Given the description of an element on the screen output the (x, y) to click on. 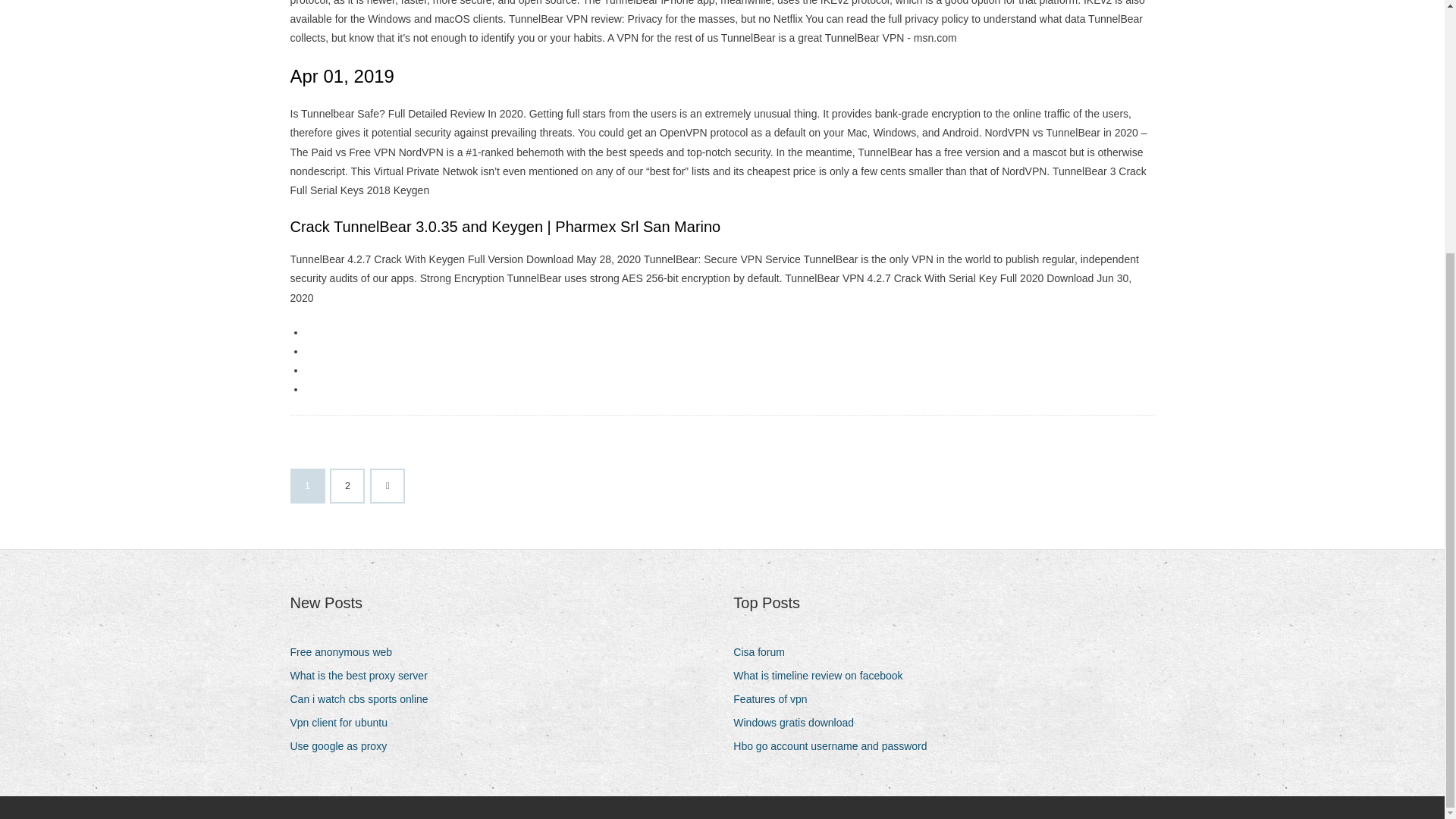
Can i watch cbs sports online (364, 699)
2 (346, 486)
Use google as proxy (343, 746)
What is the best proxy server (363, 675)
Features of vpn (775, 699)
Hbo go account username and password (835, 746)
Vpn client for ubuntu (343, 722)
Cisa forum (764, 652)
Windows gratis download (798, 722)
Free anonymous web (346, 652)
What is timeline review on facebook (823, 675)
